Given the description of an element on the screen output the (x, y) to click on. 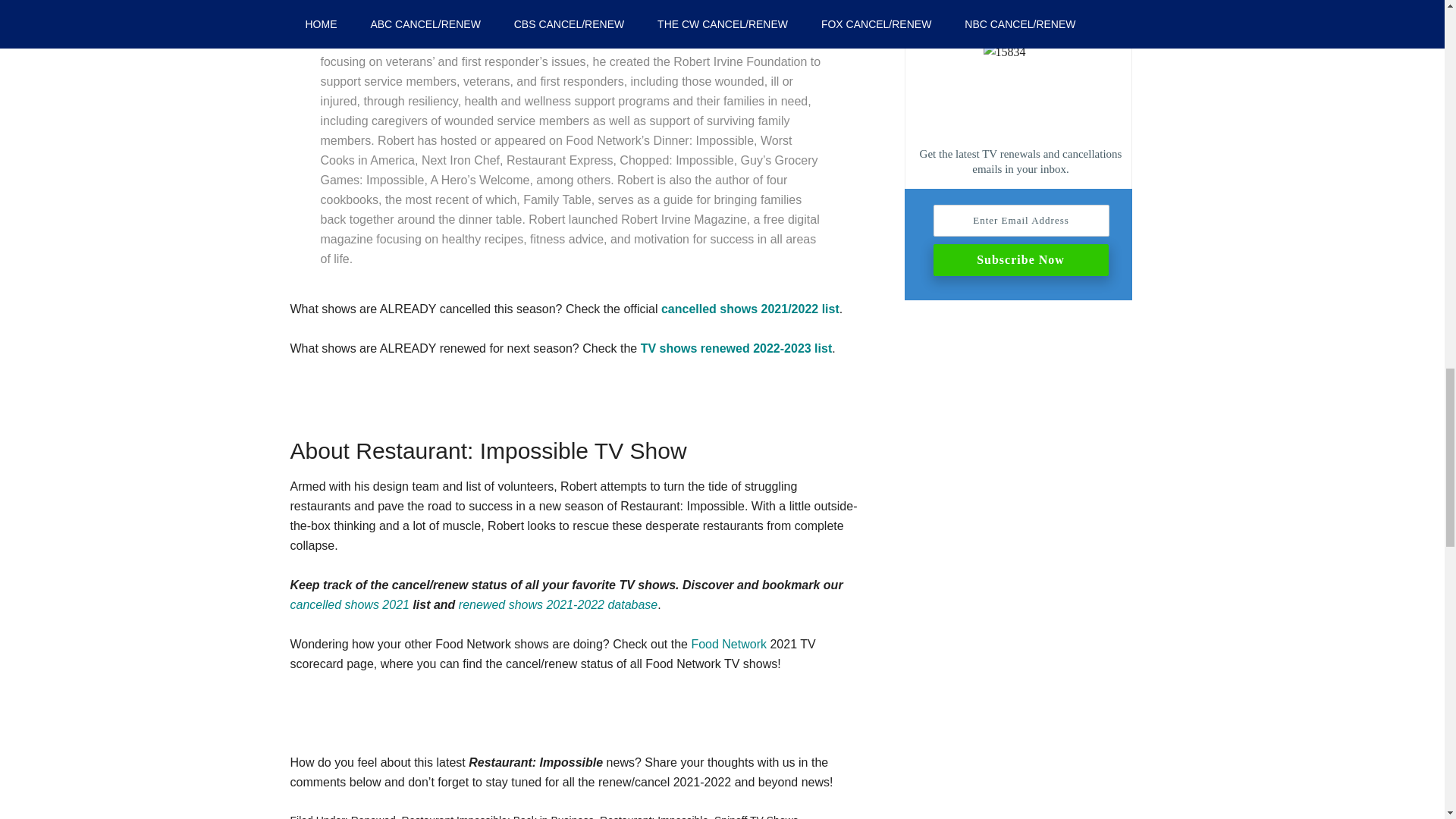
Restaurant: Impossible (653, 816)
Restaurant Impossible: Back in Business (497, 816)
TV shows renewed 2022-2023 list (736, 348)
cancelled shows 2021 (349, 604)
Renewed (373, 816)
renewed shows 2021-2022 database (558, 604)
Spinoff TV Shows (755, 816)
Food Network (728, 644)
